Given the description of an element on the screen output the (x, y) to click on. 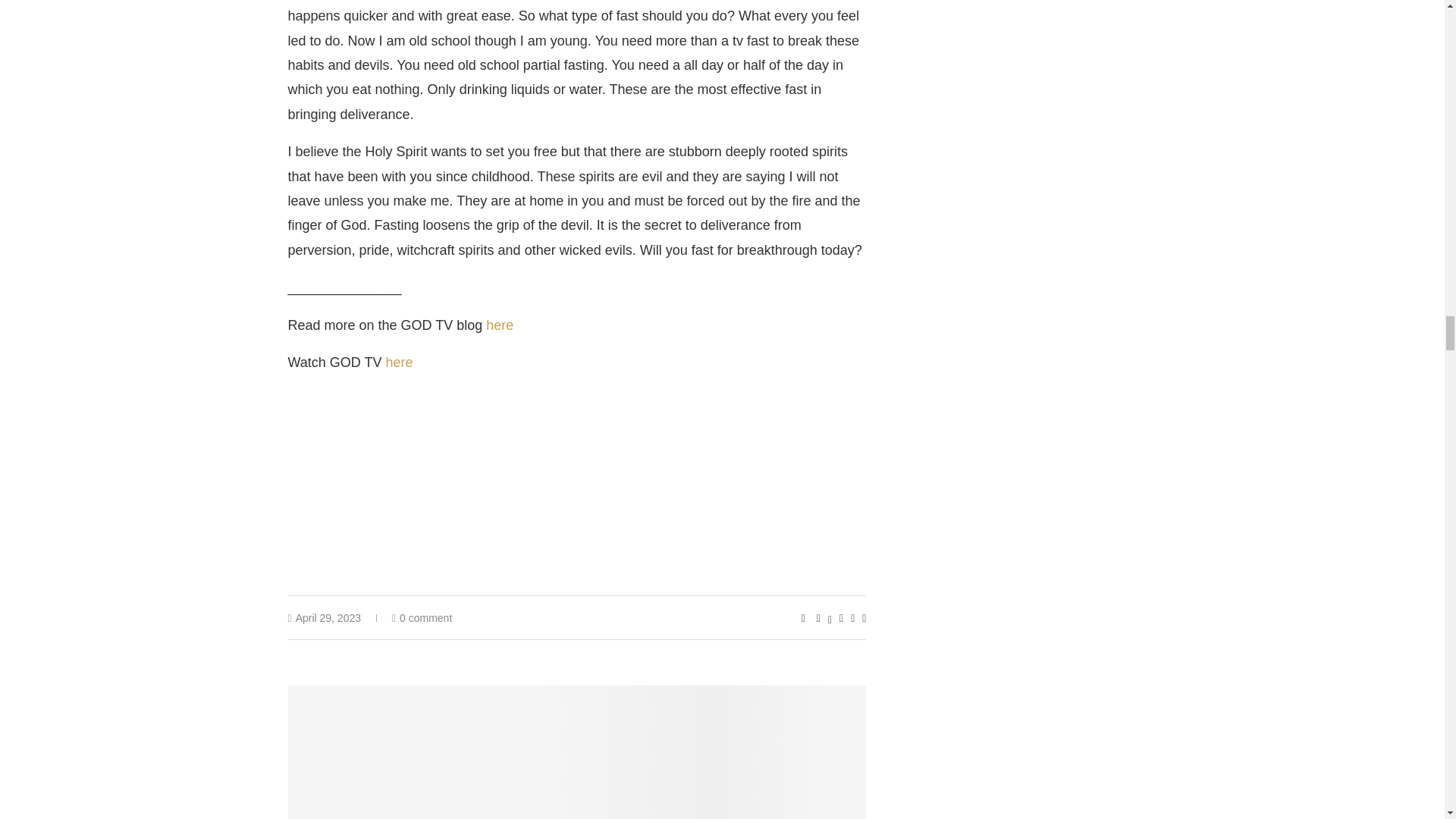
GODTV22-8846 (577, 752)
